Given the description of an element on the screen output the (x, y) to click on. 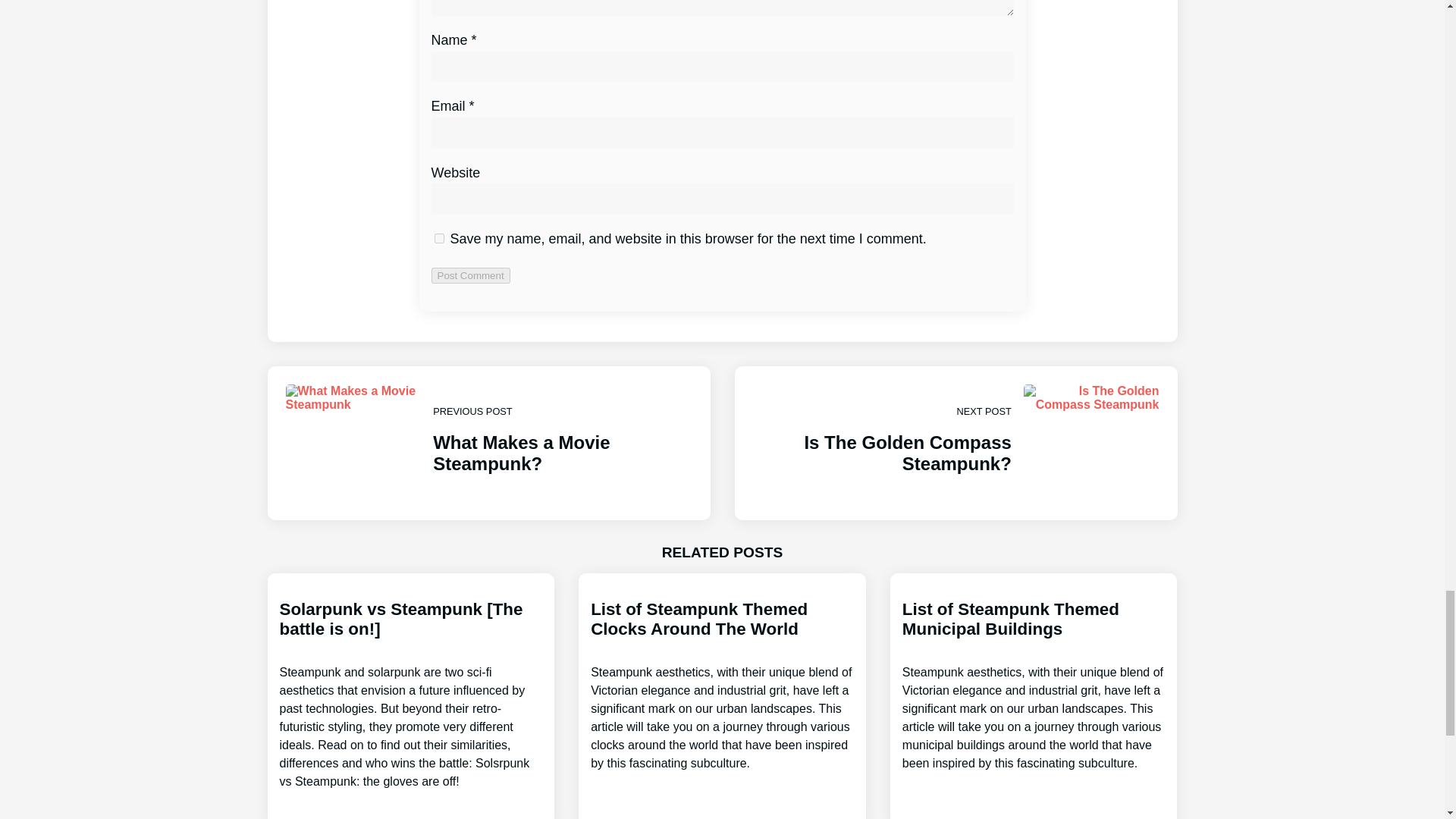
yes (438, 238)
List of Steampunk Themed Municipal Buildings (954, 443)
Post Comment (1034, 686)
Post Comment (469, 275)
List of Steampunk Themed Clocks Around The World (469, 275)
